Given the description of an element on the screen output the (x, y) to click on. 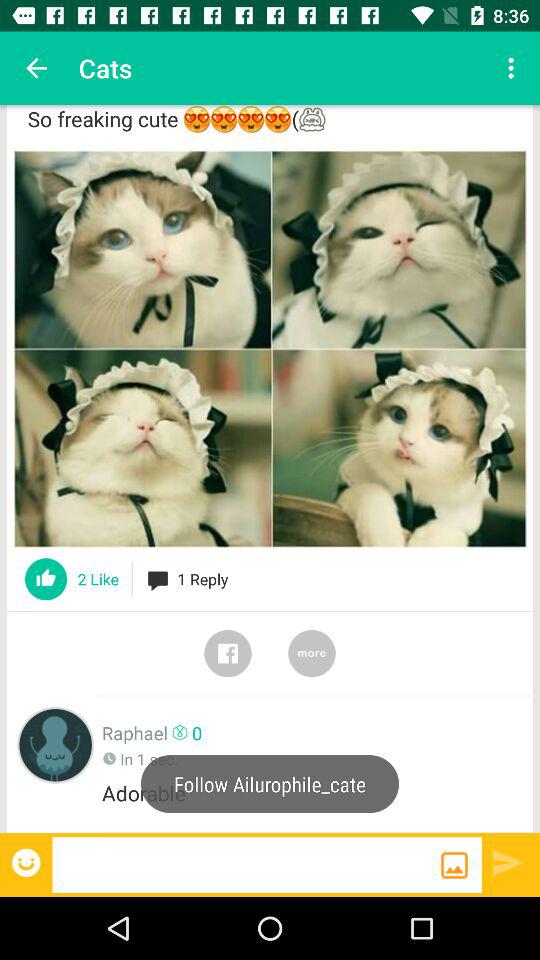
tap the icon to the left of raphael icon (55, 744)
